Given the description of an element on the screen output the (x, y) to click on. 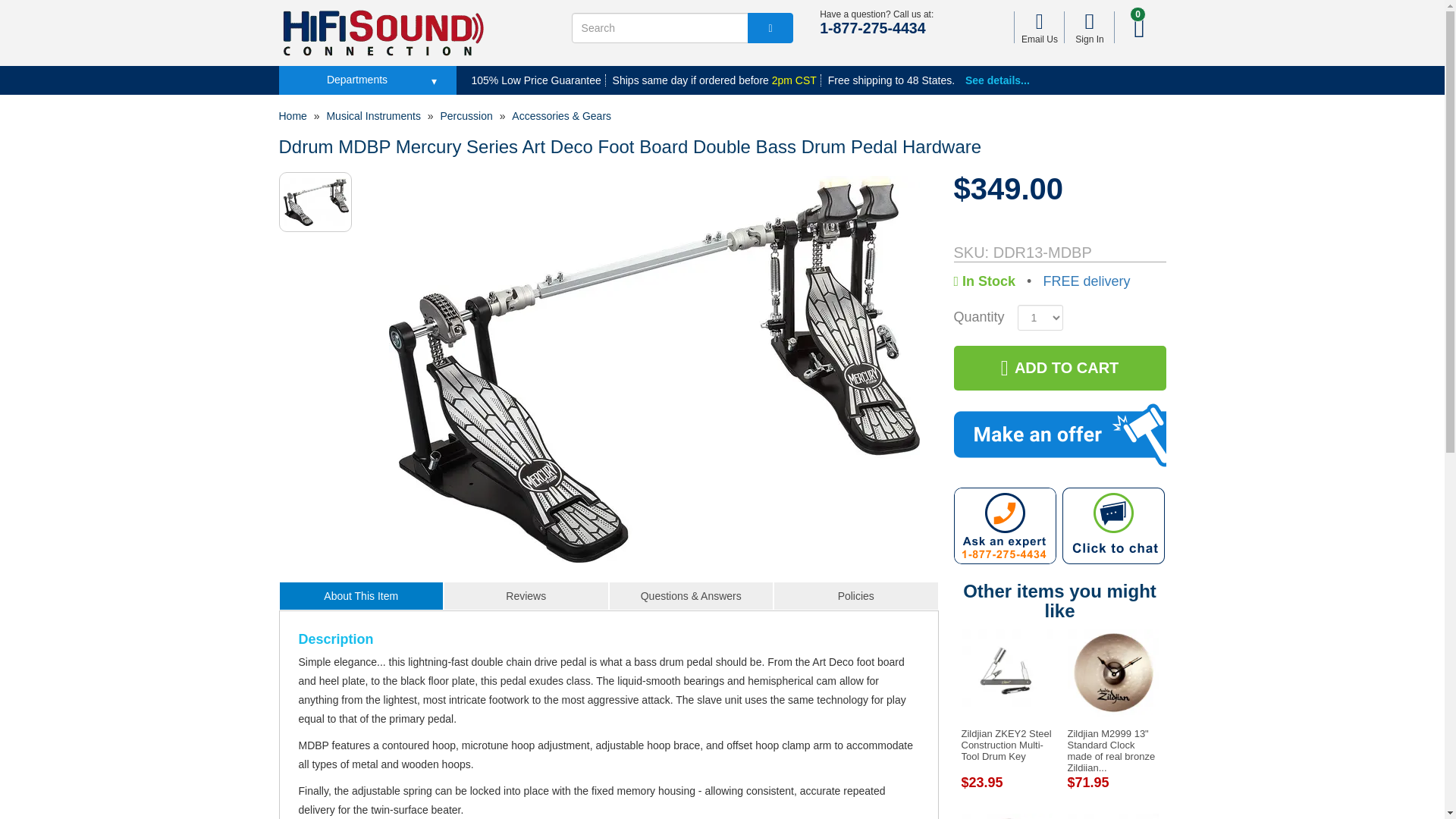
ADD TO CART (1059, 367)
Email Us (1038, 27)
Zildjian ZKEY2 Steel Construction Multi-Tool Drum Key (1005, 745)
Percussion (465, 115)
Musical Instruments (373, 115)
See details... (997, 80)
Sign In (1088, 27)
View Cart (1138, 27)
Have a question? Call us at: 1-877-275-4434 (1005, 525)
1-877-275-4434 (871, 27)
FREE delivery (1085, 281)
Email Us (1038, 27)
Click to Chat (1113, 525)
